Given the description of an element on the screen output the (x, y) to click on. 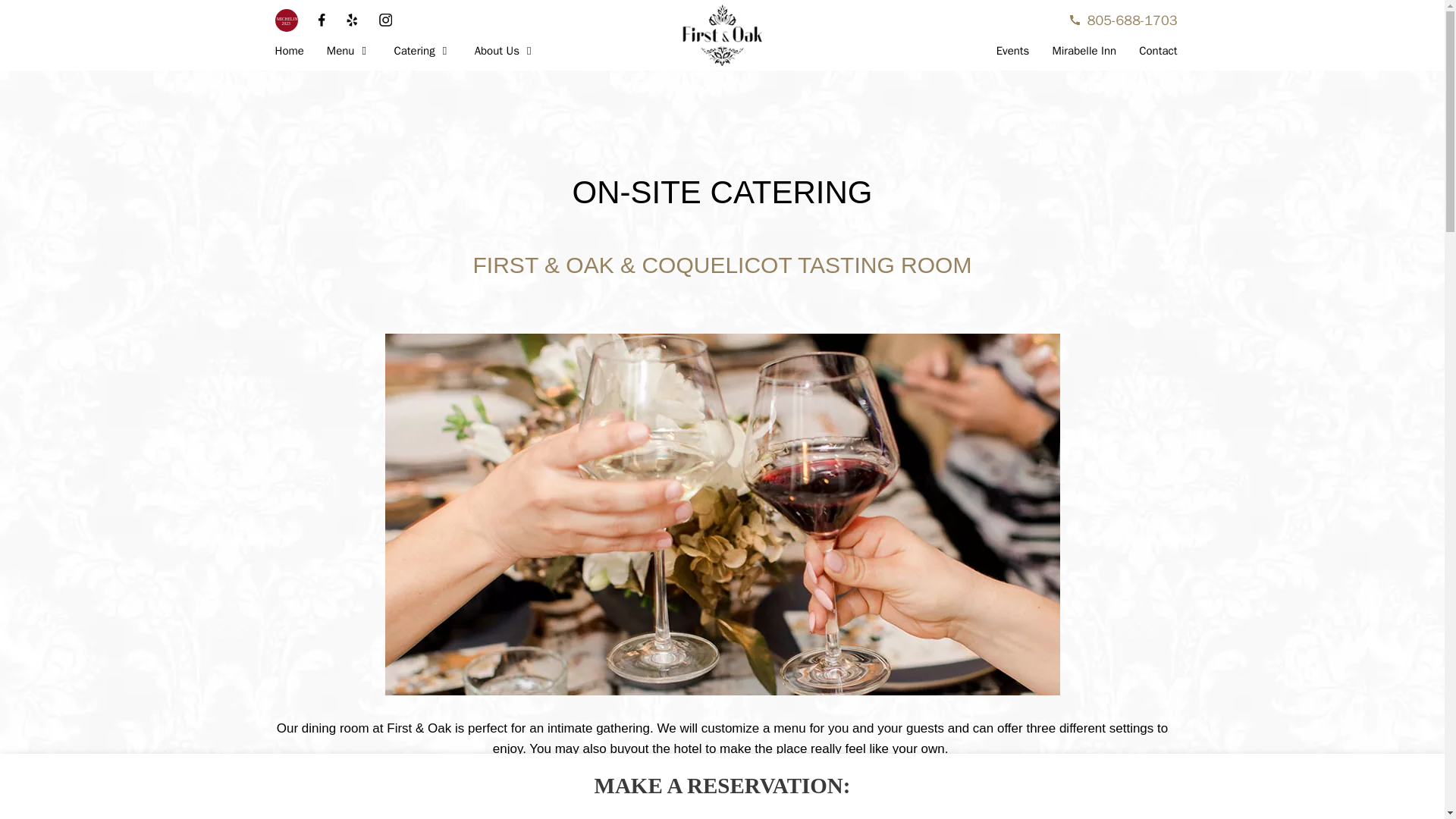
Menu (352, 50)
Catering (425, 50)
First and Oak (722, 35)
805-688-1703 (1122, 20)
Home (292, 50)
